Given the description of an element on the screen output the (x, y) to click on. 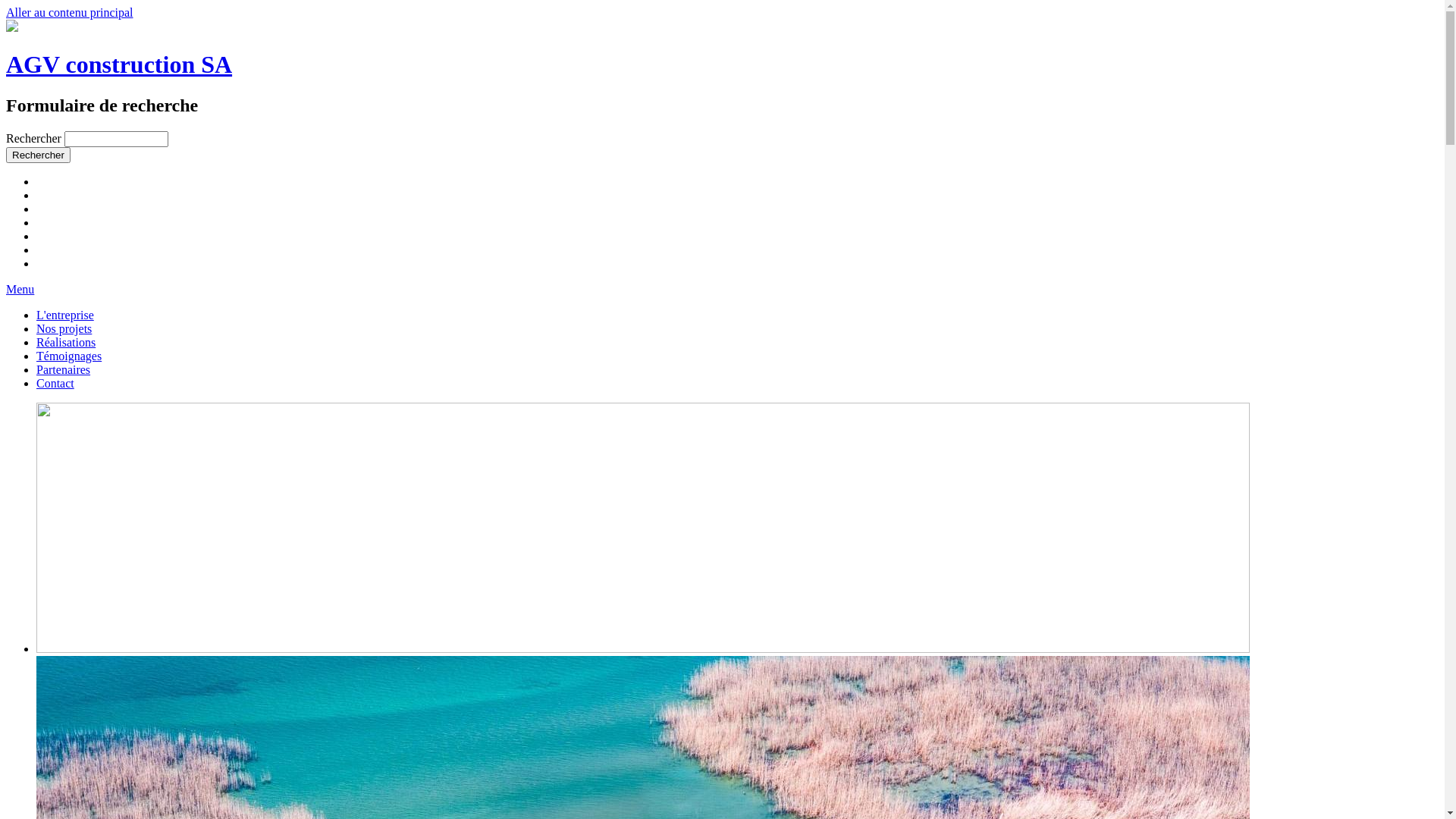
AGV construction SA Element type: text (119, 64)
Aller au contenu principal Element type: text (69, 12)
Nos projets Element type: text (63, 328)
L'entreprise Element type: text (65, 314)
Partenaires Element type: text (63, 369)
Contact Element type: text (55, 382)
Accueil Element type: hover (12, 27)
Rechercher Element type: text (38, 155)
Menu Element type: text (20, 288)
